Given the description of an element on the screen output the (x, y) to click on. 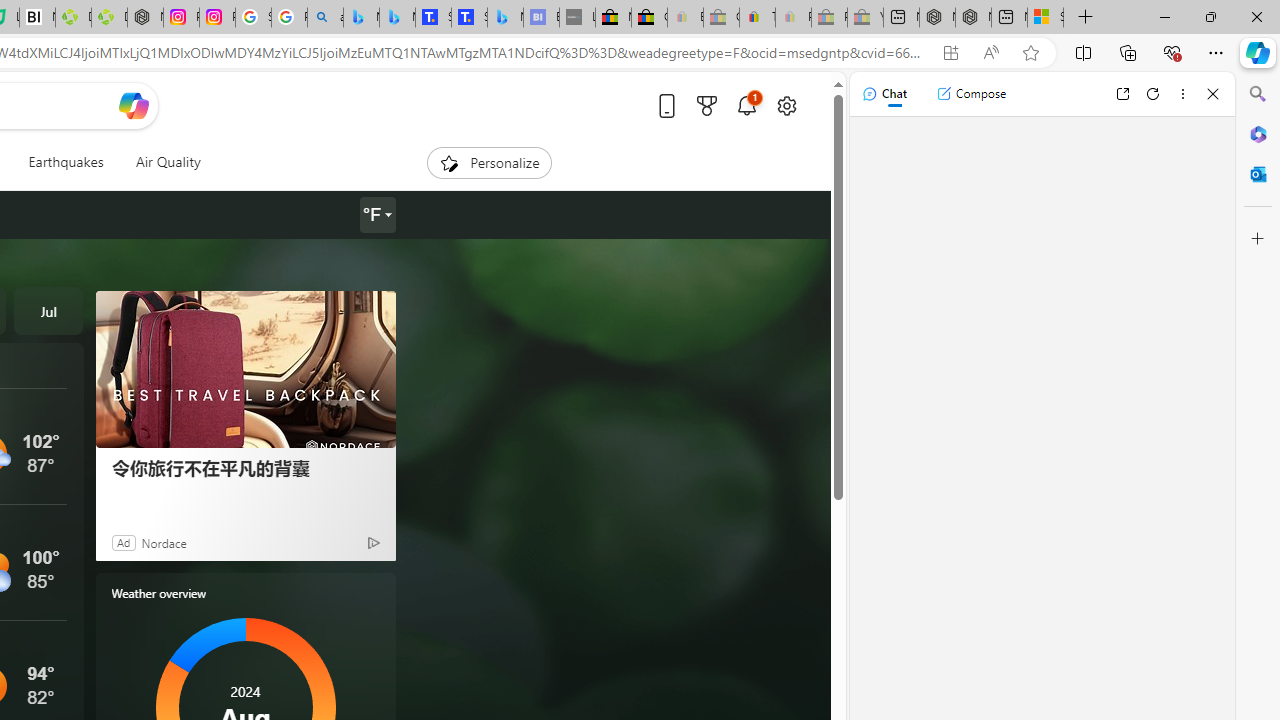
Jul (48, 310)
Air Quality (159, 162)
Payments Terms of Use | eBay.com - Sleeping (793, 17)
Nvidia va a poner a prueba la paciencia de los inversores (37, 17)
Earthquakes (65, 162)
